Given the description of an element on the screen output the (x, y) to click on. 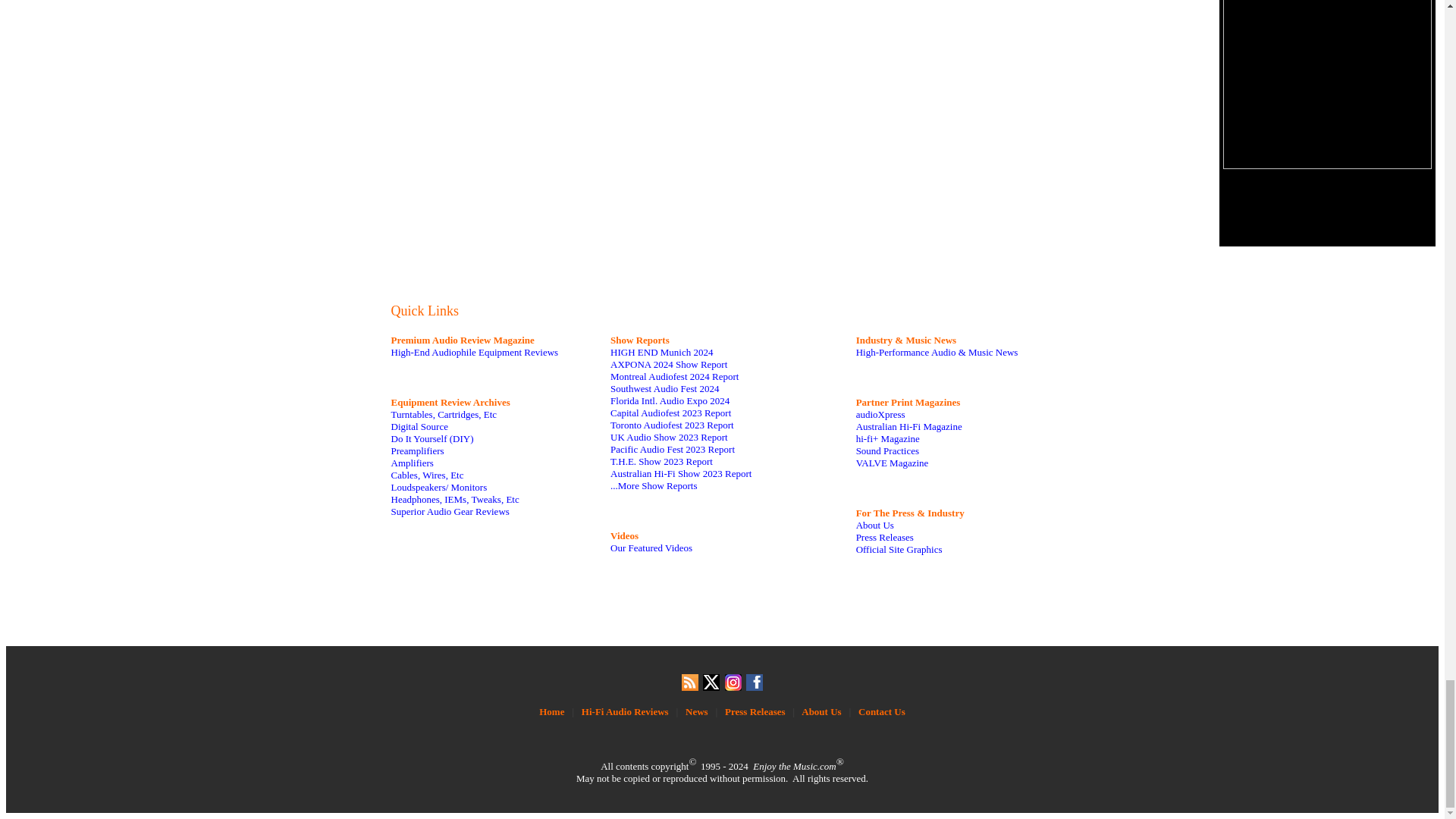
Amplifiers (412, 462)
Cables, Wires, Etc (427, 474)
Turntables, Cartridges, Etc (444, 414)
Digital Source (419, 426)
Preamplifiers (417, 450)
High-End Audiophile Equipment Reviews (475, 351)
